Given the description of an element on the screen output the (x, y) to click on. 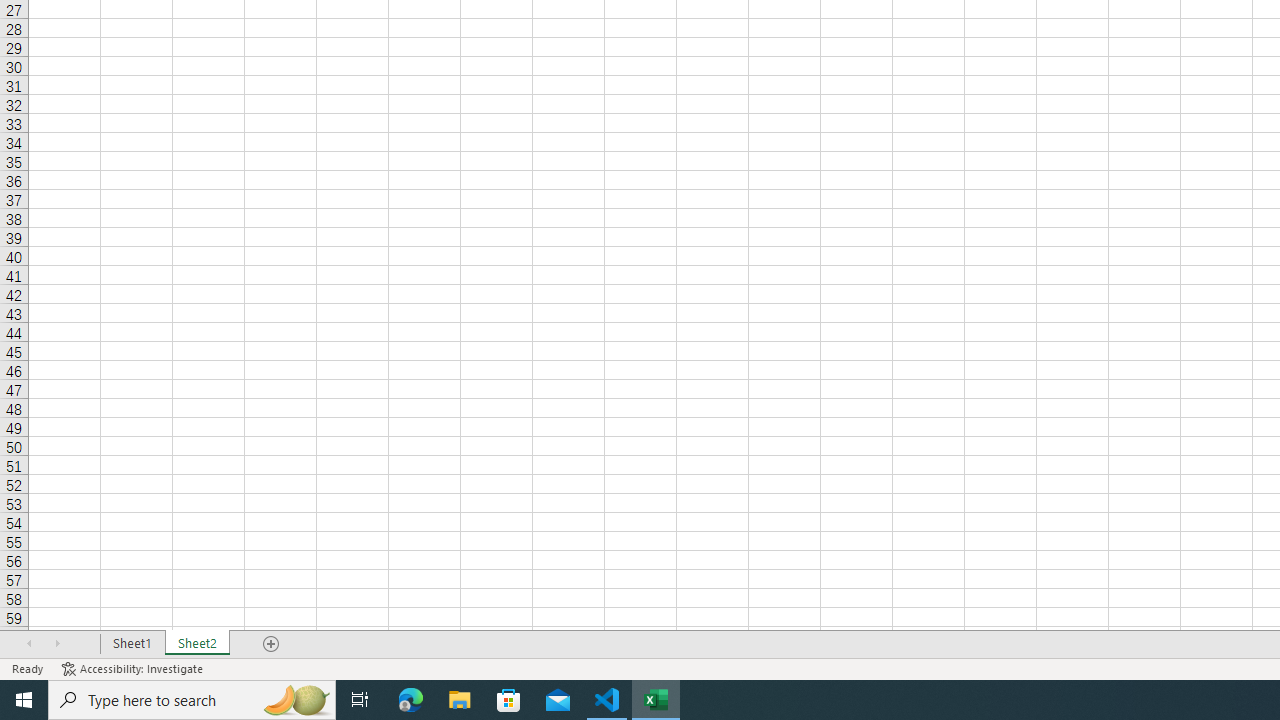
Excel - 1 running window (656, 699)
Microsoft Edge (411, 699)
Scroll Right (57, 644)
Sheet1 (132, 644)
Microsoft Store (509, 699)
Type here to search (191, 699)
Task View (359, 699)
Accessibility Checker Accessibility: Investigate (134, 668)
Start (24, 699)
Add Sheet (271, 644)
Visual Studio Code - 1 running window (607, 699)
File Explorer (460, 699)
Search highlights icon opens search home window (295, 699)
Scroll Left (29, 644)
